Given the description of an element on the screen output the (x, y) to click on. 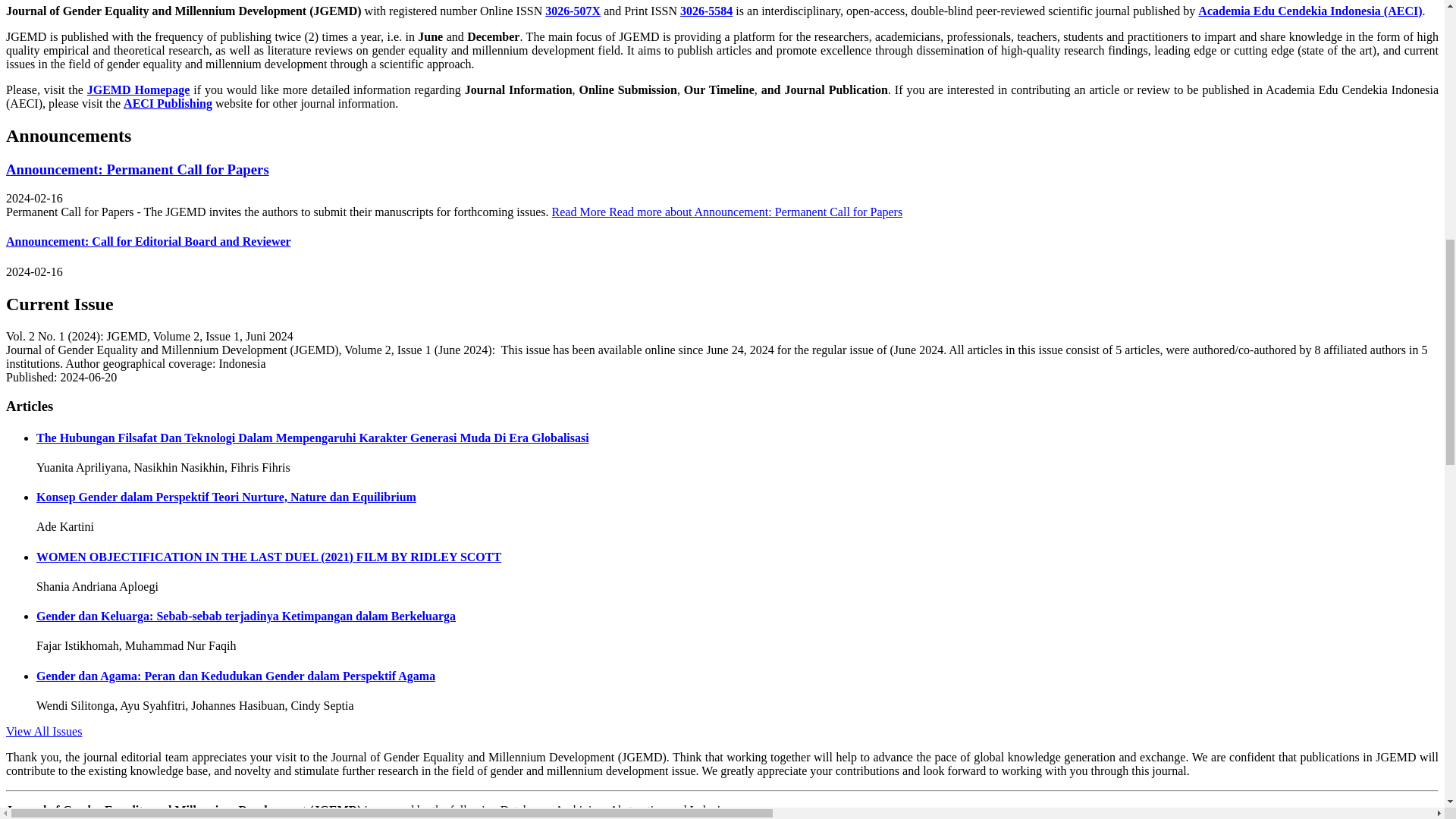
Announcement: Call for Editorial Board and Reviewer (148, 241)
PISSN (705, 10)
3026-5584 (705, 10)
Announcement: Permanent Call for Papers (137, 168)
3026-507X (571, 10)
